Given the description of an element on the screen output the (x, y) to click on. 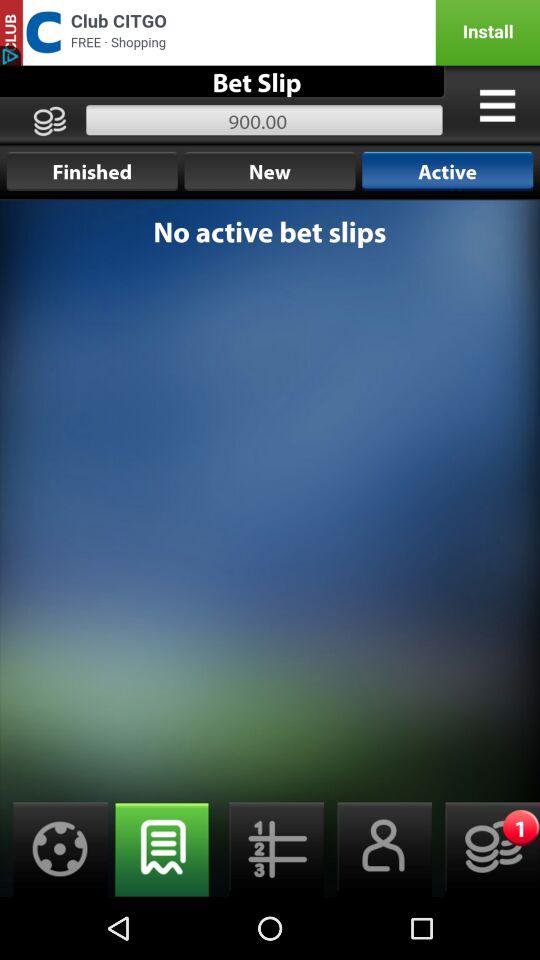
menu (497, 105)
